Given the description of an element on the screen output the (x, y) to click on. 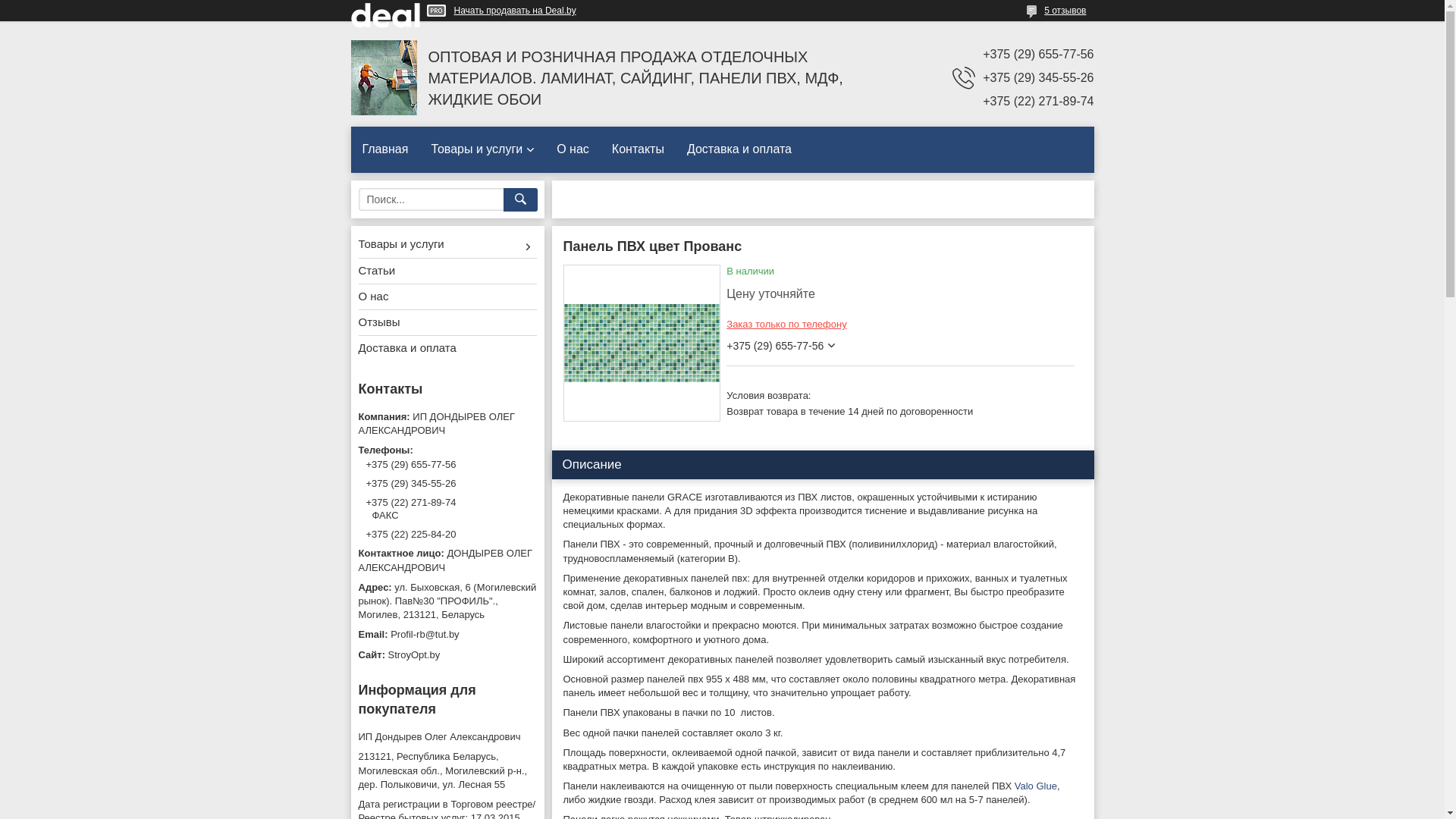
Valo Glue Element type: text (1035, 785)
StroyOpt.by Element type: text (446, 655)
Profil-rb@tut.by Element type: text (446, 634)
